Given the description of an element on the screen output the (x, y) to click on. 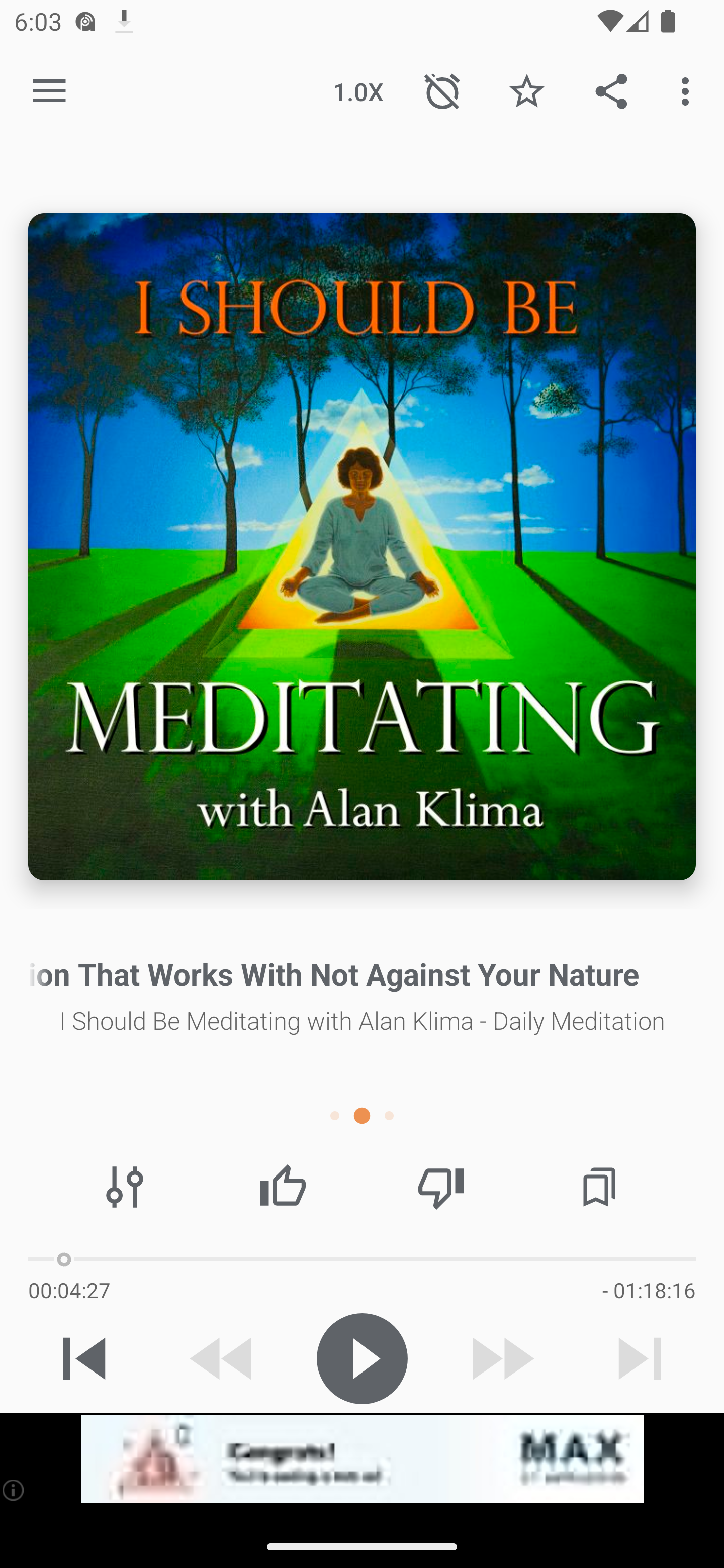
Open navigation sidebar (49, 91)
1.0X (357, 90)
Sleep Timer (442, 90)
Favorite (526, 90)
Share (611, 90)
More options (688, 90)
Episode description (361, 547)
Audio effects (124, 1186)
Thumbs up (283, 1186)
Thumbs down (440, 1186)
Chapters / Bookmarks (598, 1186)
- 01:18:16 (648, 1289)
Previous track (84, 1358)
Skip 15s backward (222, 1358)
Play / Pause (362, 1358)
Skip 30s forward (500, 1358)
Next track (639, 1358)
app-monetization (362, 1459)
(i) (14, 1489)
